Given the description of an element on the screen output the (x, y) to click on. 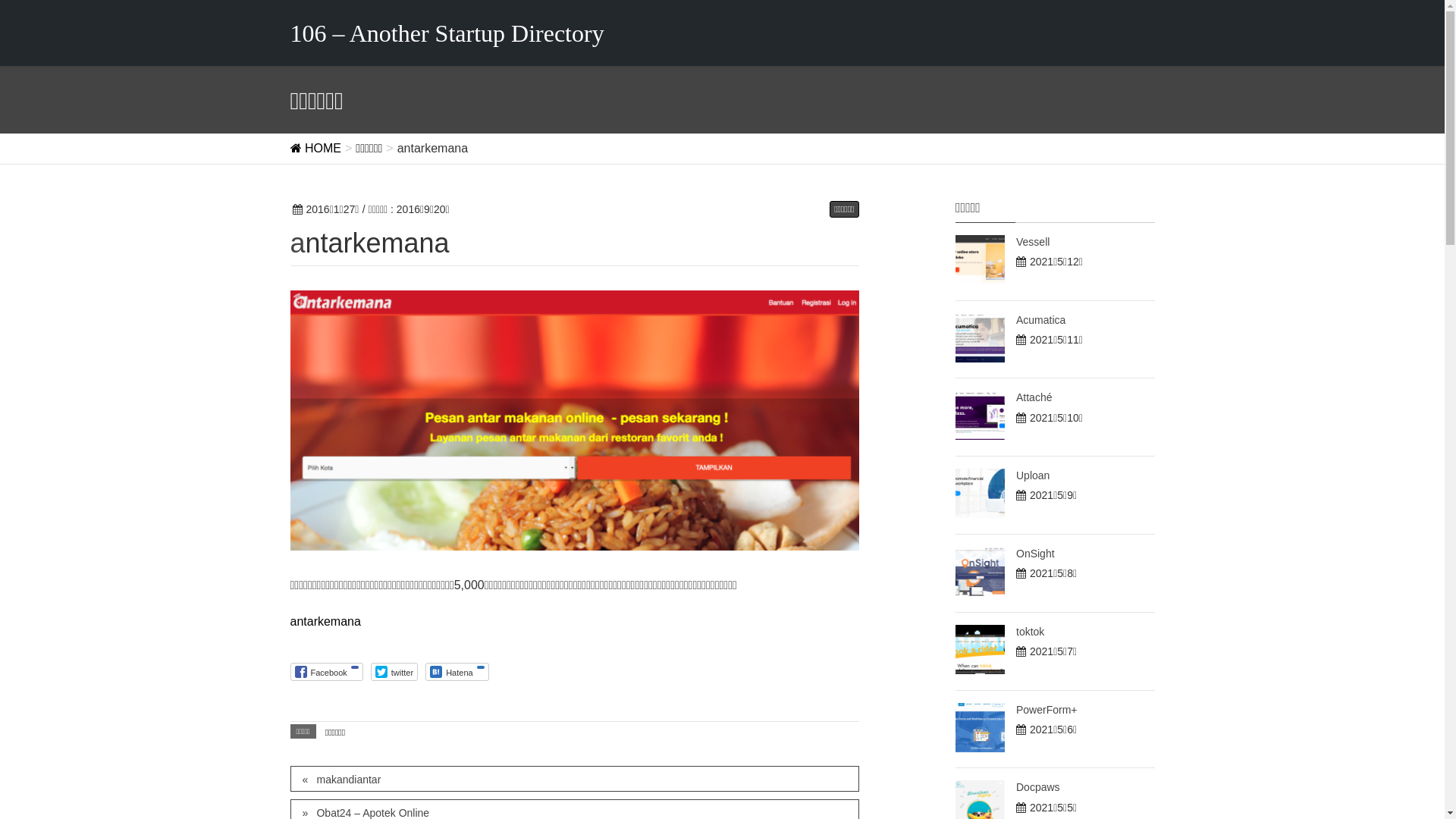
PowerForm+ Element type: text (1046, 709)
Facebook Element type: text (325, 671)
Docpaws Element type: text (1038, 787)
HOME Element type: text (314, 147)
OnSight Element type: text (1035, 553)
Hatena Element type: text (456, 671)
twitter Element type: text (393, 671)
Acumatica Element type: text (1040, 319)
toktok Element type: text (1030, 631)
Uploan Element type: text (1032, 475)
antarkemana Element type: text (324, 621)
Vessell Element type: text (1032, 241)
makandiantar Element type: text (573, 778)
